Given the description of an element on the screen output the (x, y) to click on. 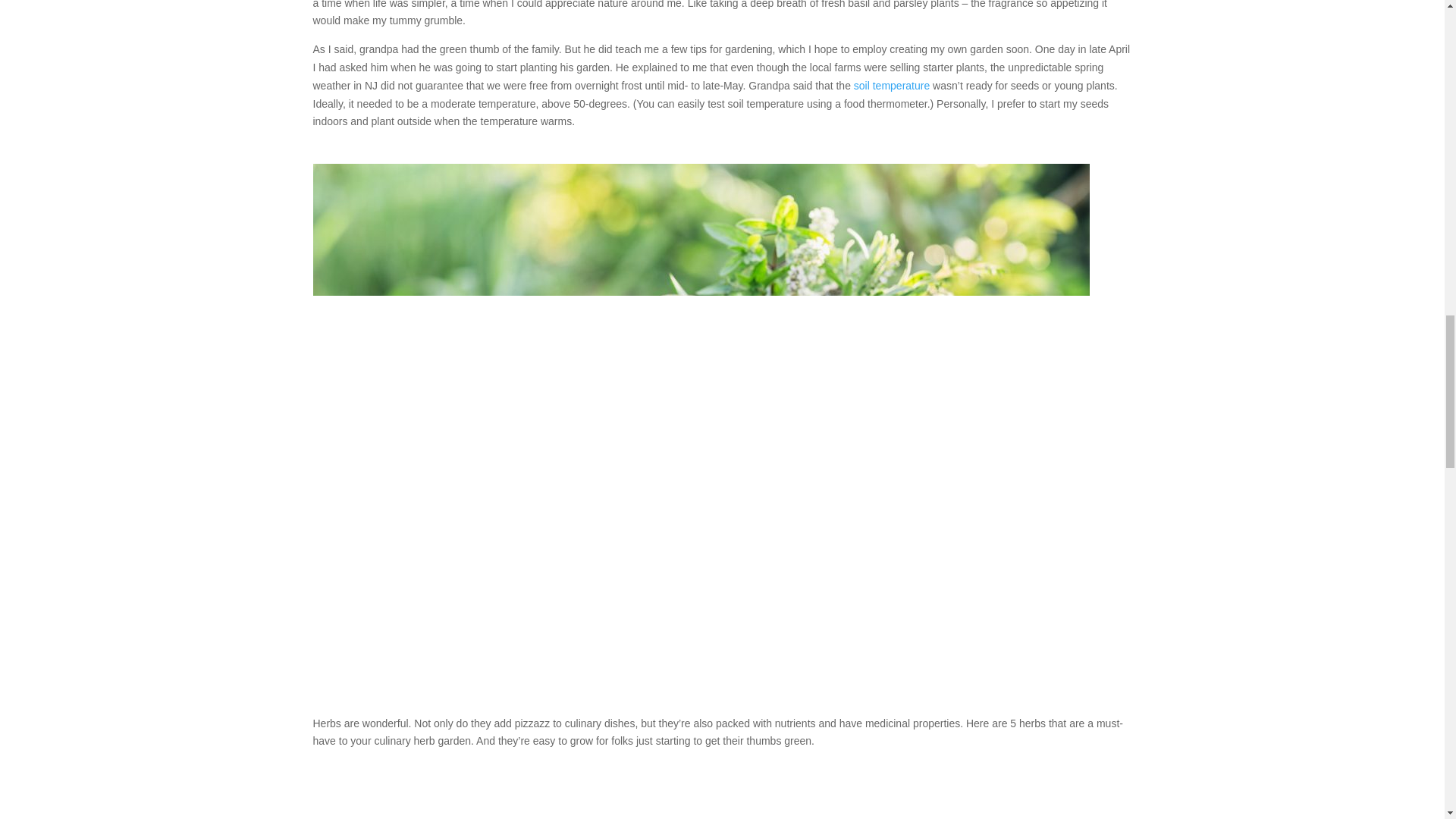
soil temperature (891, 85)
